Given the description of an element on the screen output the (x, y) to click on. 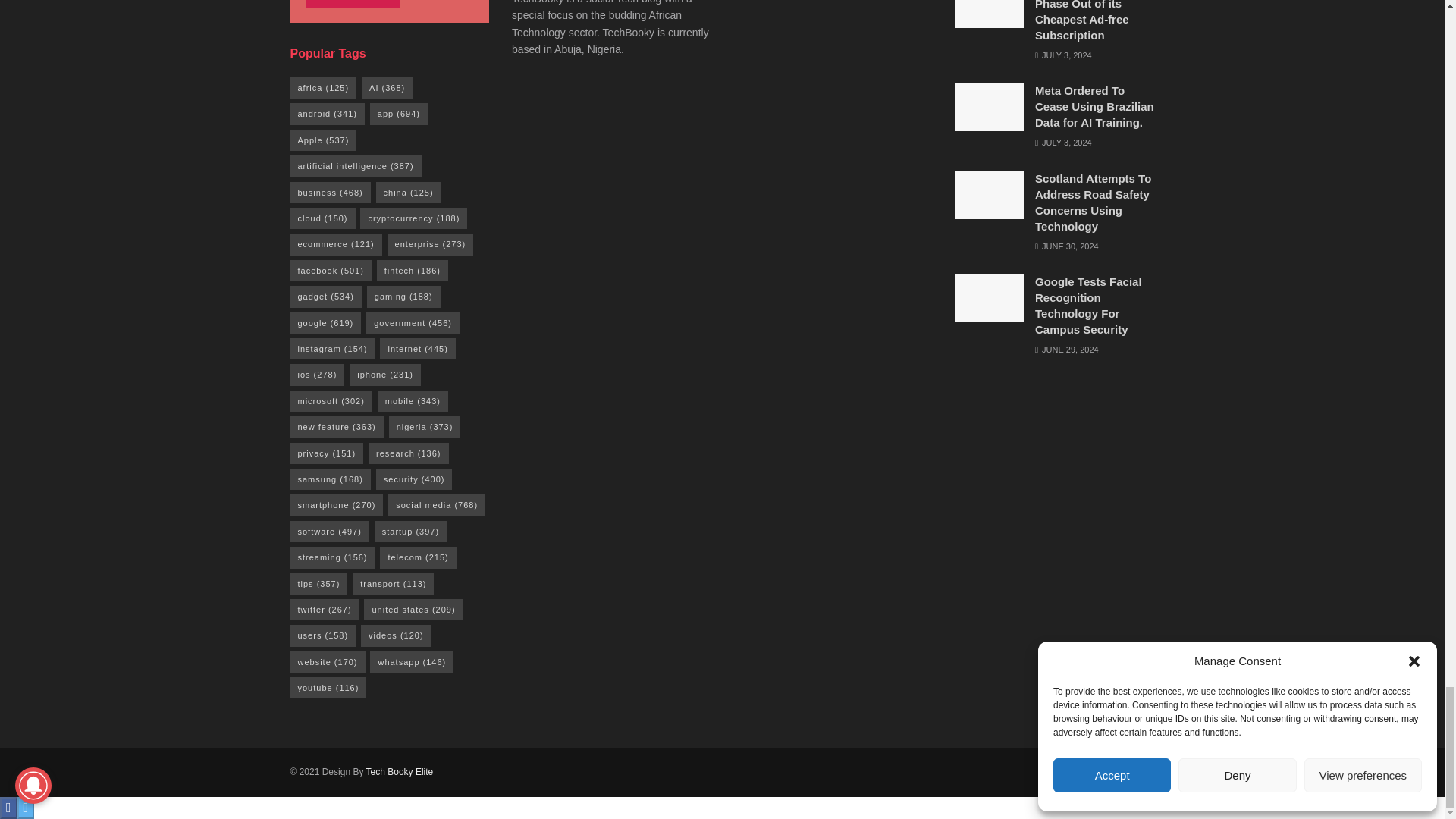
Subscribe (352, 3)
 Tech Booky Elite (399, 771)
